Given the description of an element on the screen output the (x, y) to click on. 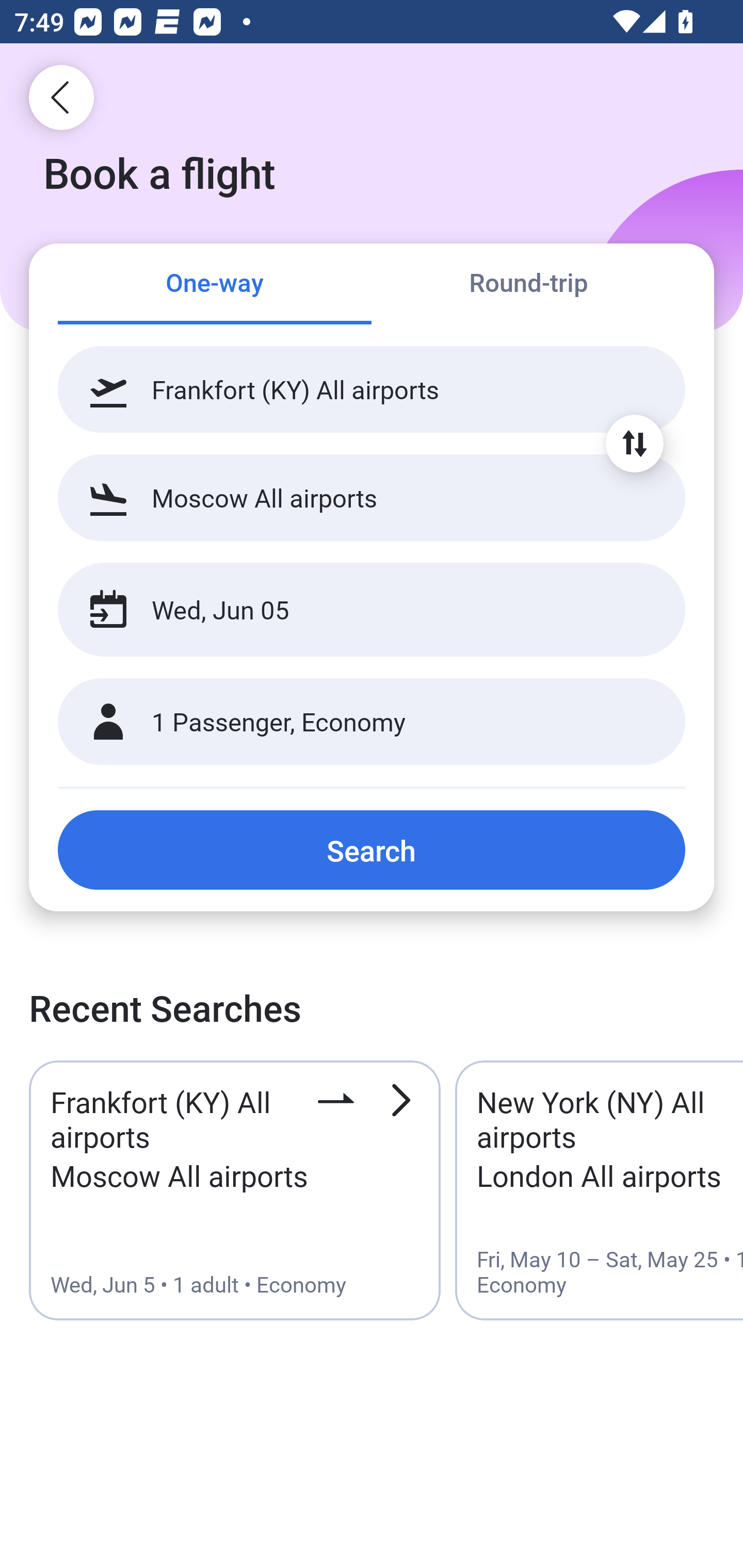
Round-trip (528, 284)
Frankfort (KY) All airports (371, 389)
Moscow All airports (371, 497)
Wed, Jun 05 (349, 609)
1 Passenger, Economy (371, 721)
Search (371, 849)
